Given the description of an element on the screen output the (x, y) to click on. 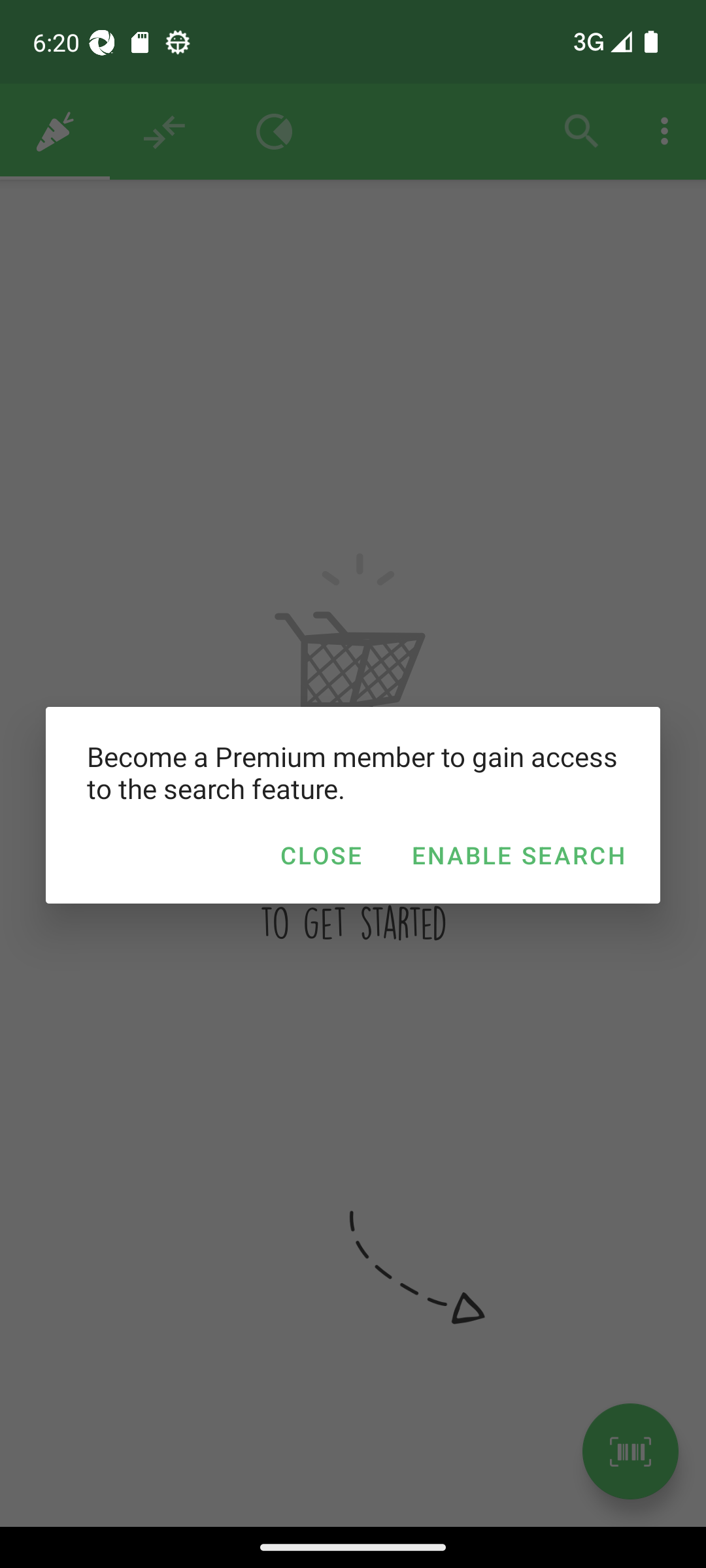
CLOSE (320, 854)
ENABLE SEARCH (517, 854)
